Given the description of an element on the screen output the (x, y) to click on. 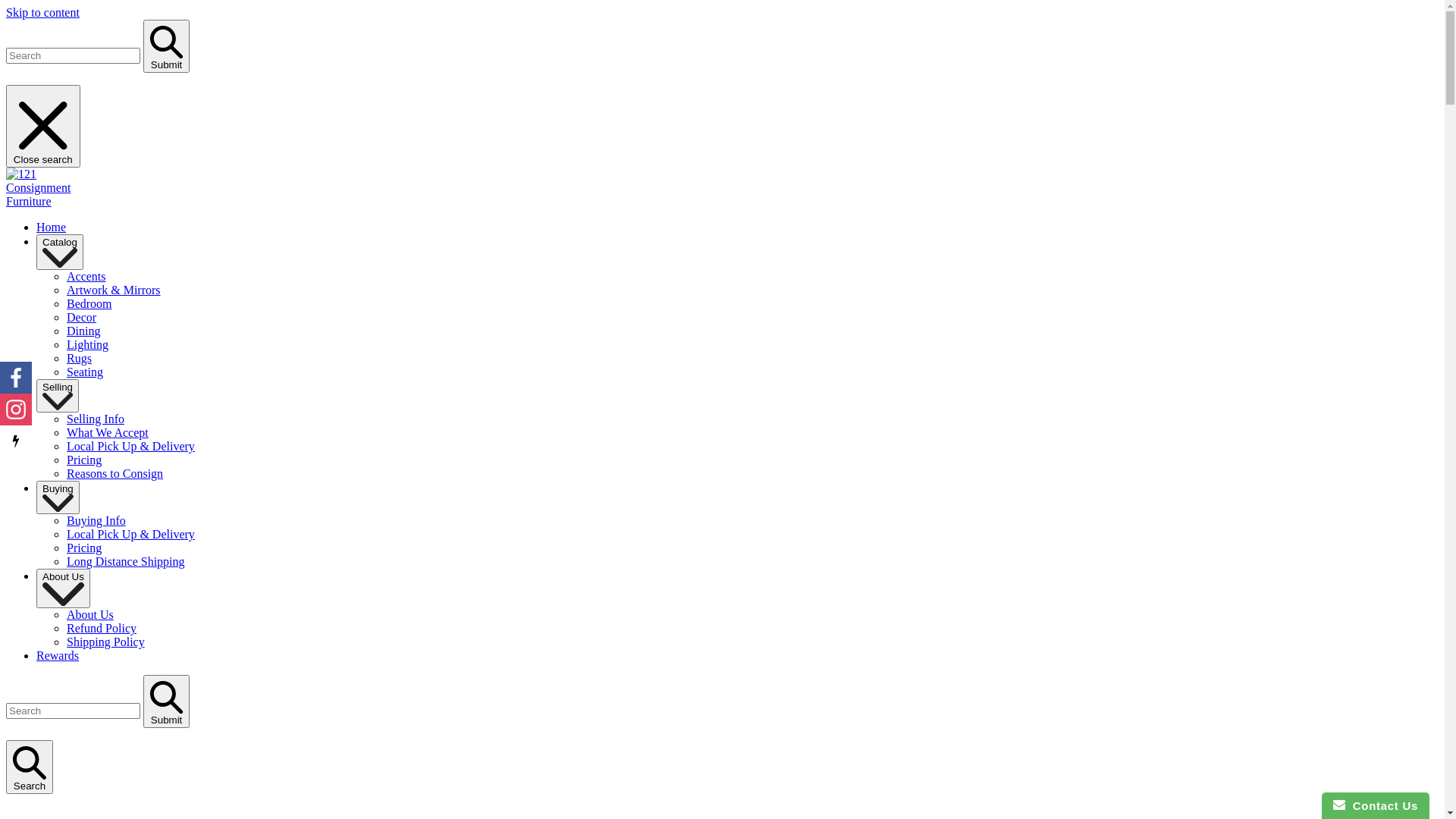
Refund Policy Element type: text (101, 627)
Long Distance Shipping Element type: text (125, 561)
Bedroom Element type: text (89, 303)
Reasons to Consign Element type: text (114, 473)
About Us Element type: text (89, 614)
Rewards Element type: text (57, 655)
Submit Element type: text (166, 45)
Pricing Element type: text (83, 547)
Shipping Policy Element type: text (105, 641)
Powered By Improved Contact Form Element type: hover (15, 441)
What We Accept Element type: text (107, 432)
Decor Element type: text (81, 316)
Buying Info Element type: text (95, 520)
Submit Element type: text (166, 701)
Artwork & Mirrors Element type: text (113, 289)
Pricing Element type: text (83, 459)
Local Pick Up & Delivery Element type: text (130, 445)
Selling Info Element type: text (95, 418)
Home Element type: text (50, 226)
Lighting Element type: text (87, 344)
Follow on Instagram Element type: hover (15, 409)
Skip to content Element type: text (42, 12)
Rugs Element type: text (78, 357)
Follow on Facebook Element type: hover (15, 377)
Search Element type: text (29, 766)
Close search Element type: text (43, 125)
Local Pick Up & Delivery Element type: text (130, 533)
Seating Element type: text (84, 371)
Accents Element type: text (86, 275)
Dining Element type: text (83, 330)
